Given the description of an element on the screen output the (x, y) to click on. 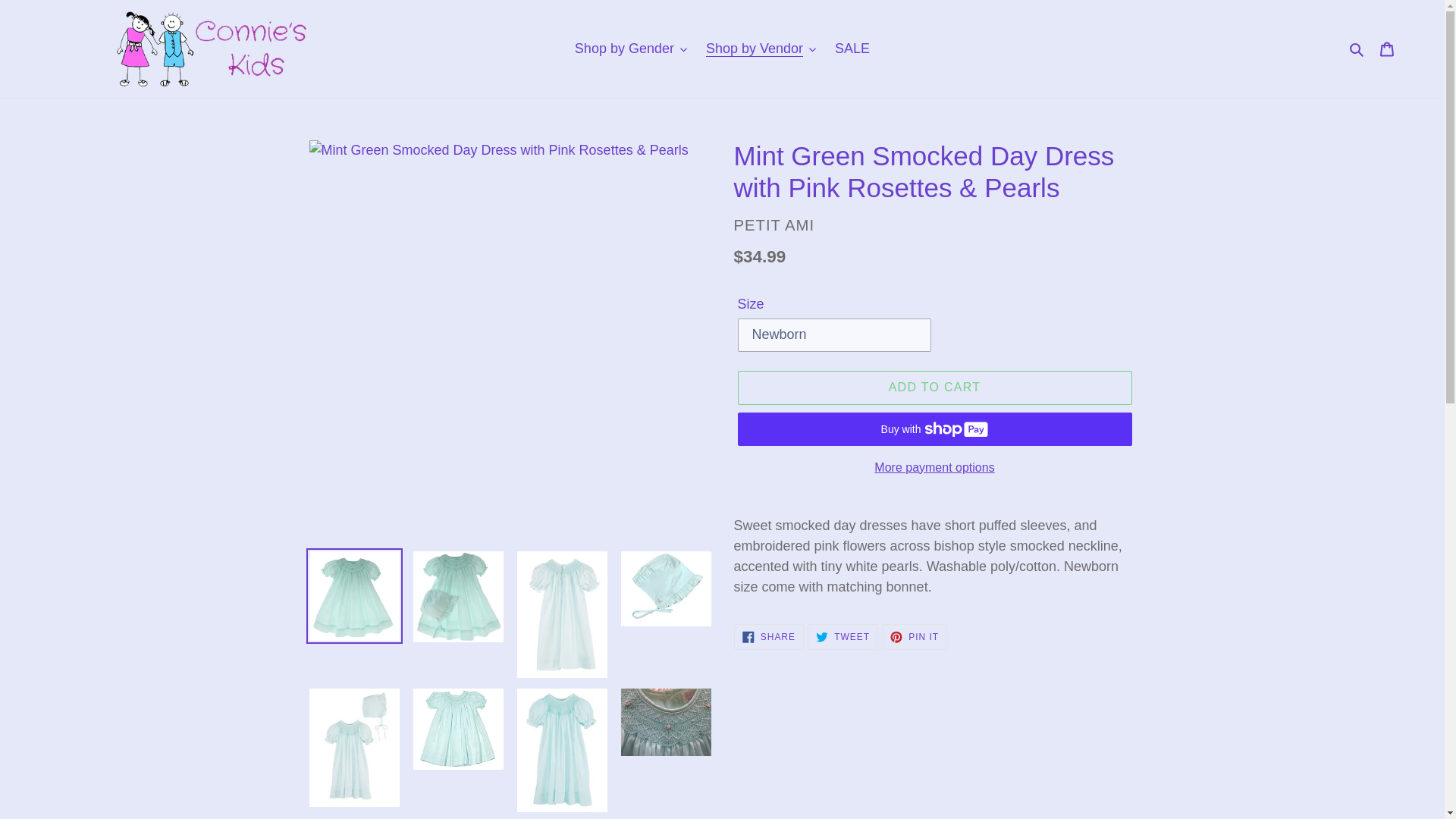
Shop by Vendor (761, 48)
Cart (1387, 48)
SALE (852, 48)
Search (1357, 48)
Shop by Gender (630, 48)
